Given the description of an element on the screen output the (x, y) to click on. 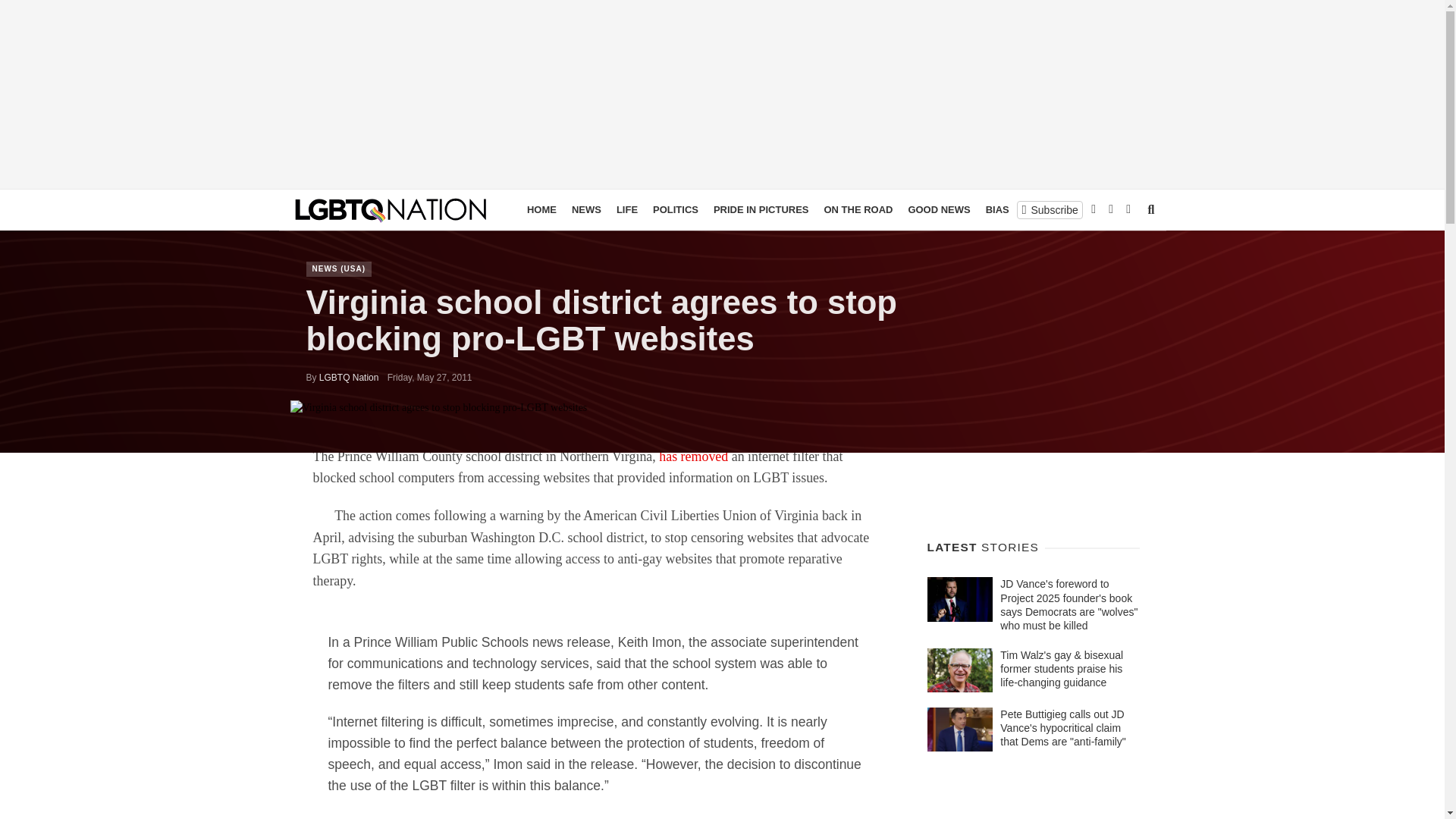
LGBTQ Nation (348, 377)
Friday, May 27, 2011 pm31 18:00:51 (429, 377)
PRIDE IN PICTURES (761, 209)
NEWS (586, 209)
COMMENTARY (1097, 209)
ON THE ROAD (857, 209)
BIAS WATCH (1016, 209)
Posts by LGBTQ Nation (348, 377)
has removed (693, 456)
Subscribe (1049, 209)
